Given the description of an element on the screen output the (x, y) to click on. 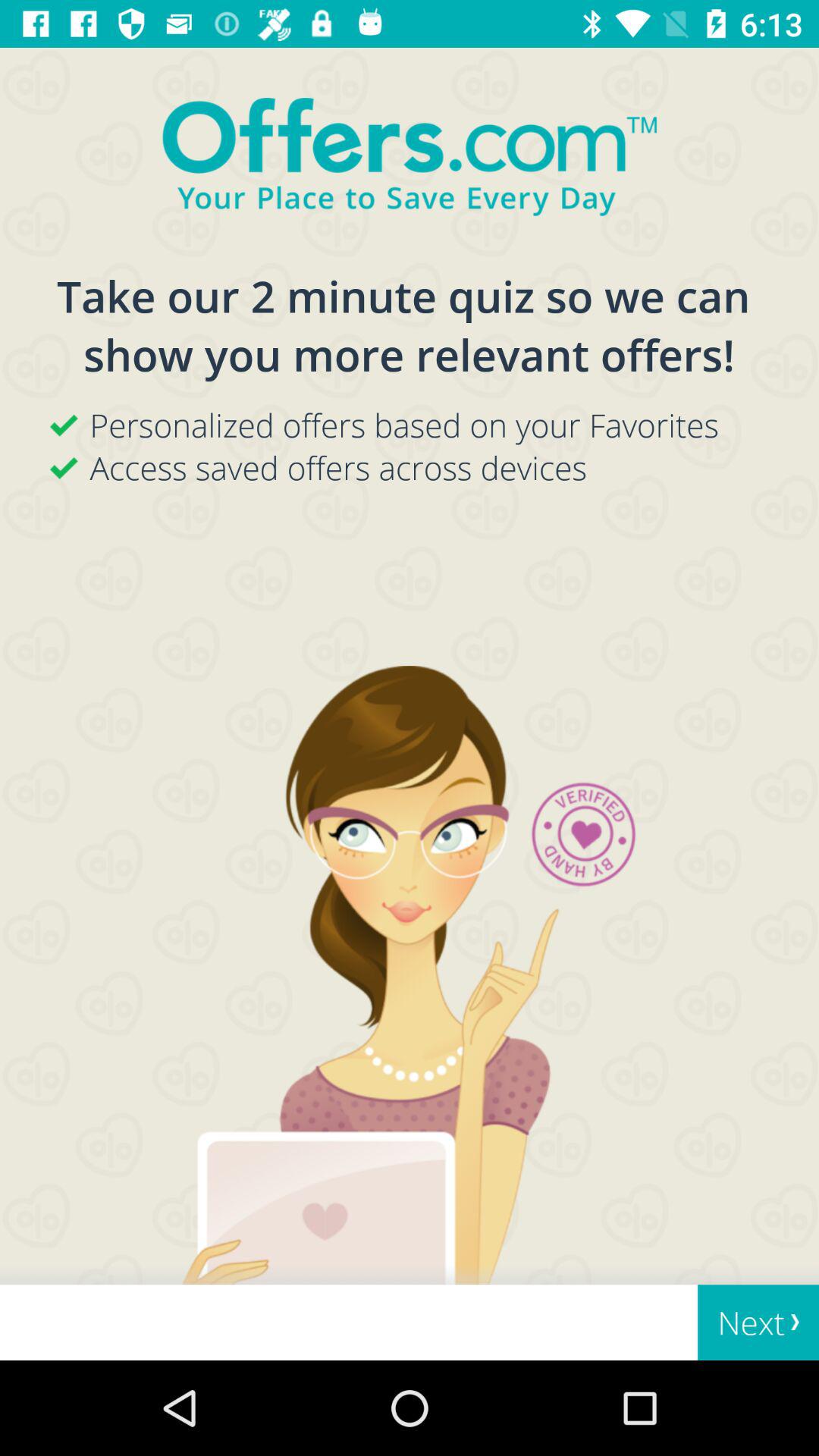
choose next at the bottom right corner (758, 1322)
